Given the description of an element on the screen output the (x, y) to click on. 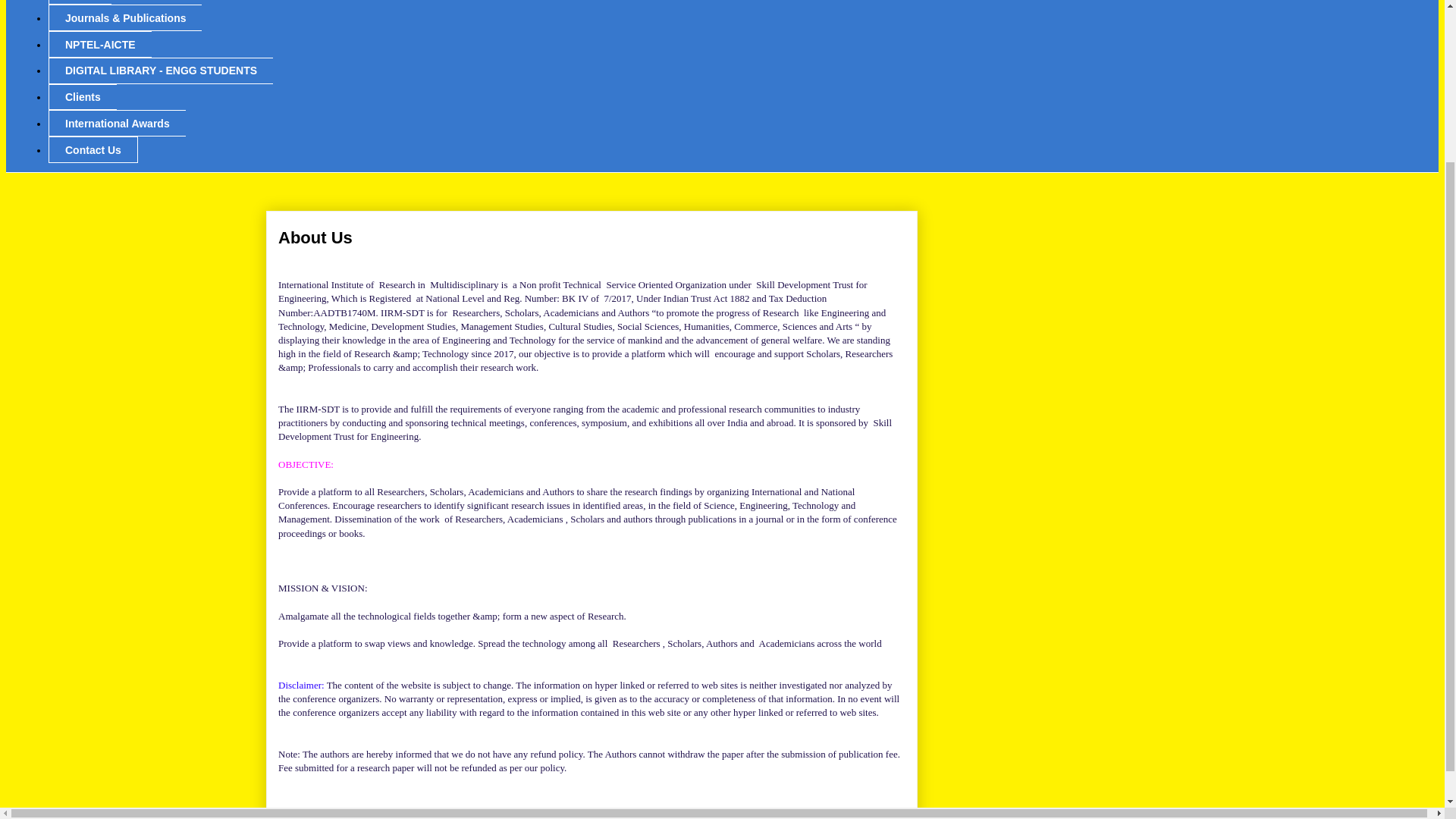
DIGITAL LIBRARY - ENGG STUDENTS (160, 70)
International Awards (117, 122)
Clients (82, 97)
Board (80, 2)
Contact Us (93, 149)
NPTEL-AICTE (99, 44)
